Given the description of an element on the screen output the (x, y) to click on. 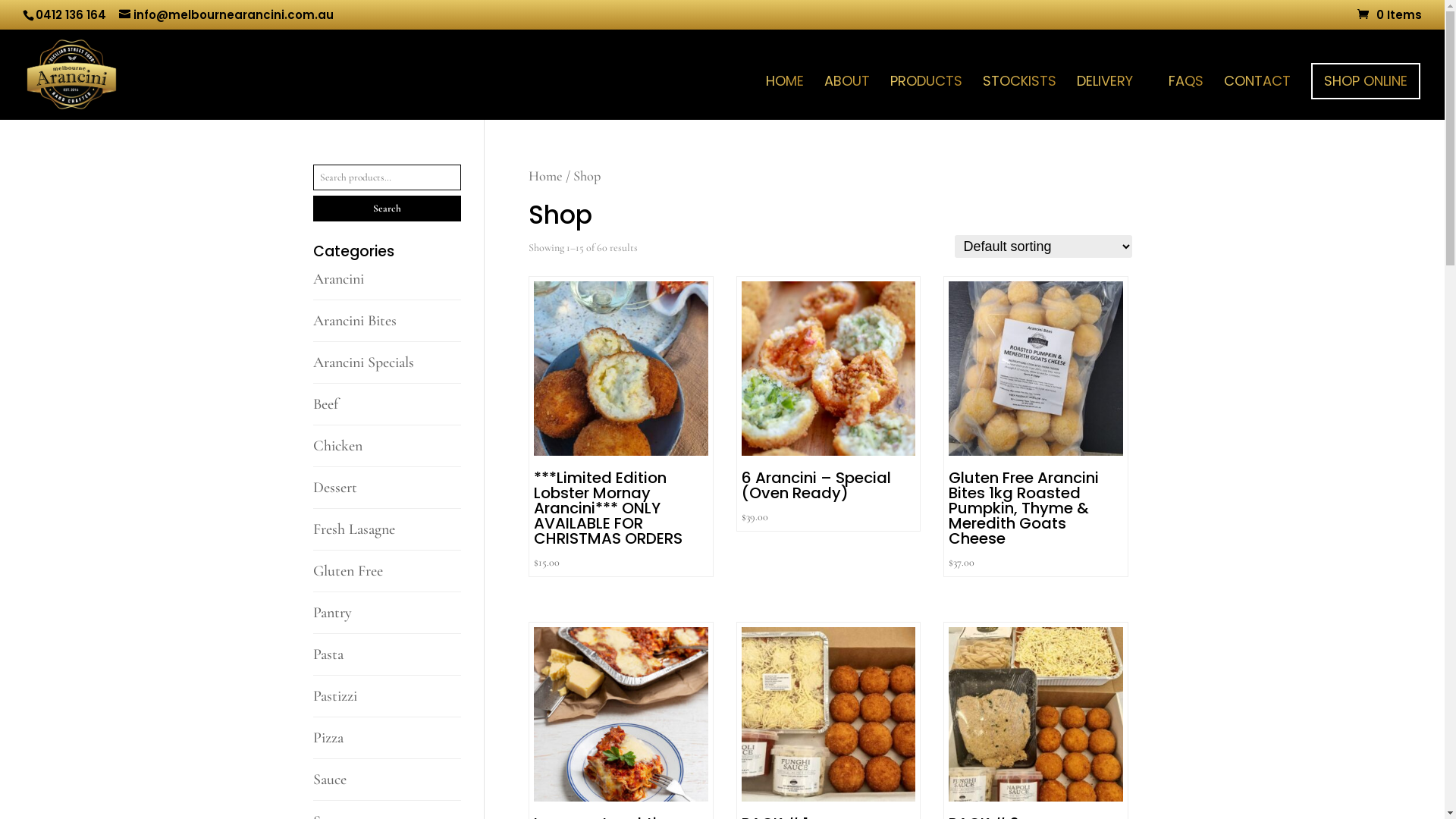
Arancini Element type: text (337, 278)
0412 136 164 Element type: text (70, 14)
Pizza Element type: text (327, 737)
Pasta Element type: text (327, 654)
Beef Element type: text (324, 404)
Pantry Element type: text (331, 612)
CONTACT Element type: text (1256, 97)
ABOUT Element type: text (846, 97)
STOCKISTS Element type: text (1019, 97)
Gluten Free Element type: text (347, 570)
Home Element type: text (545, 175)
info@melbournearancini.com.au Element type: text (226, 14)
Arancini Bites Element type: text (353, 320)
HOME Element type: text (784, 97)
Fresh Lasagne Element type: text (353, 529)
DELIVERY Element type: text (1112, 97)
Search Element type: text (386, 208)
Sauce Element type: text (328, 779)
Dessert Element type: text (334, 487)
Arancini Specials Element type: text (362, 362)
SHOP ONLINE Element type: text (1365, 80)
FAQS Element type: text (1185, 97)
PRODUCTS Element type: text (926, 97)
0 Items Element type: text (1389, 14)
Pastizzi Element type: text (334, 696)
Chicken Element type: text (336, 445)
